Given the description of an element on the screen output the (x, y) to click on. 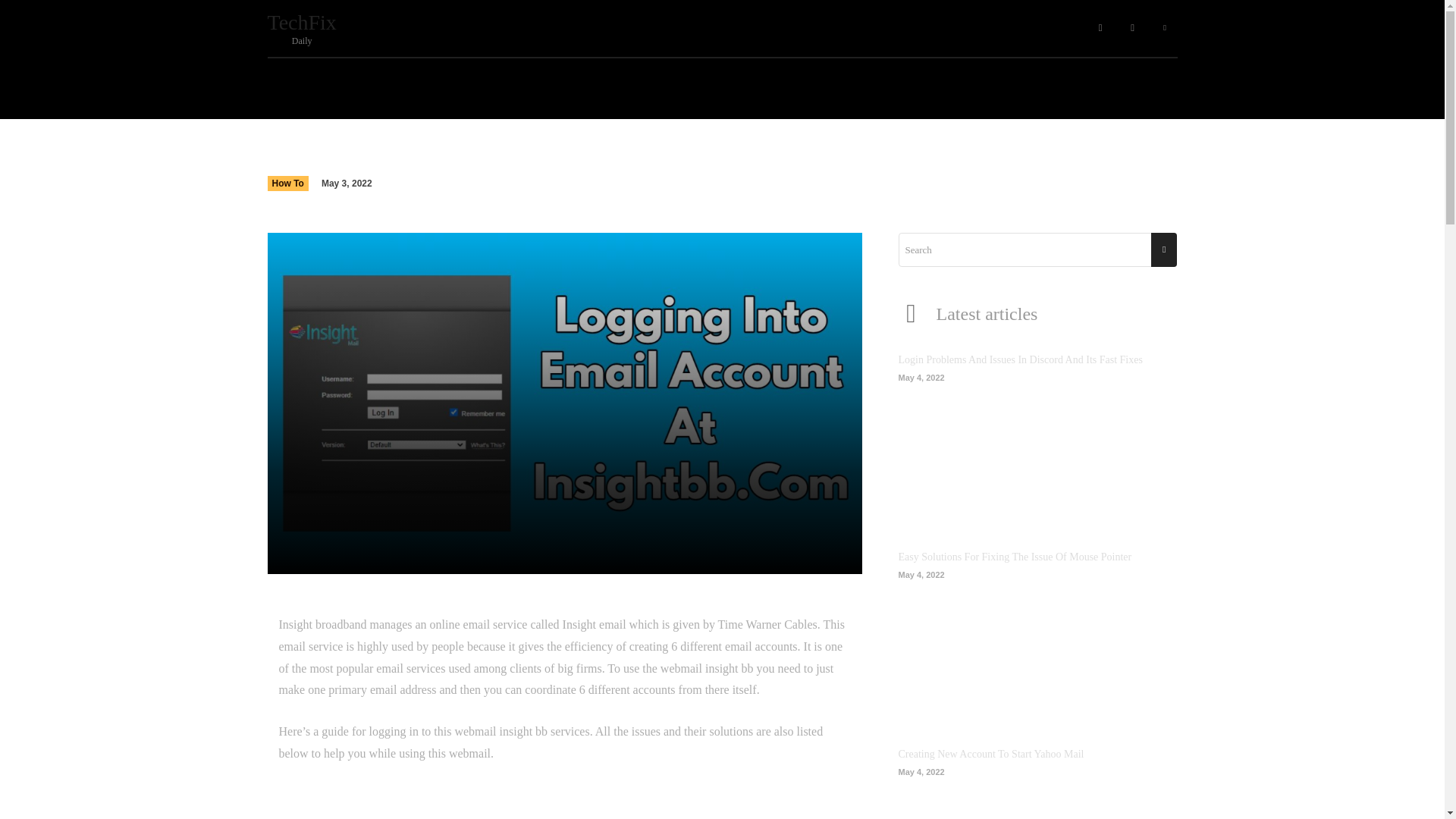
Login Problems And Issues In Discord And Its Fast Fixes (1019, 359)
Login Problems And Issues In Discord And Its Fast Fixes (1037, 450)
Easy Solutions For Fixing The Issue Of Mouse Pointer (1014, 556)
Login Problems And Issues In Discord And Its Fast Fixes (1019, 359)
How To (343, 28)
Creating New Account To Start Yahoo Mail (286, 183)
Easy Solutions For Fixing The Issue Of Mouse Pointer (990, 754)
Creating New Account To Start Yahoo Mail (1037, 647)
